Given the description of an element on the screen output the (x, y) to click on. 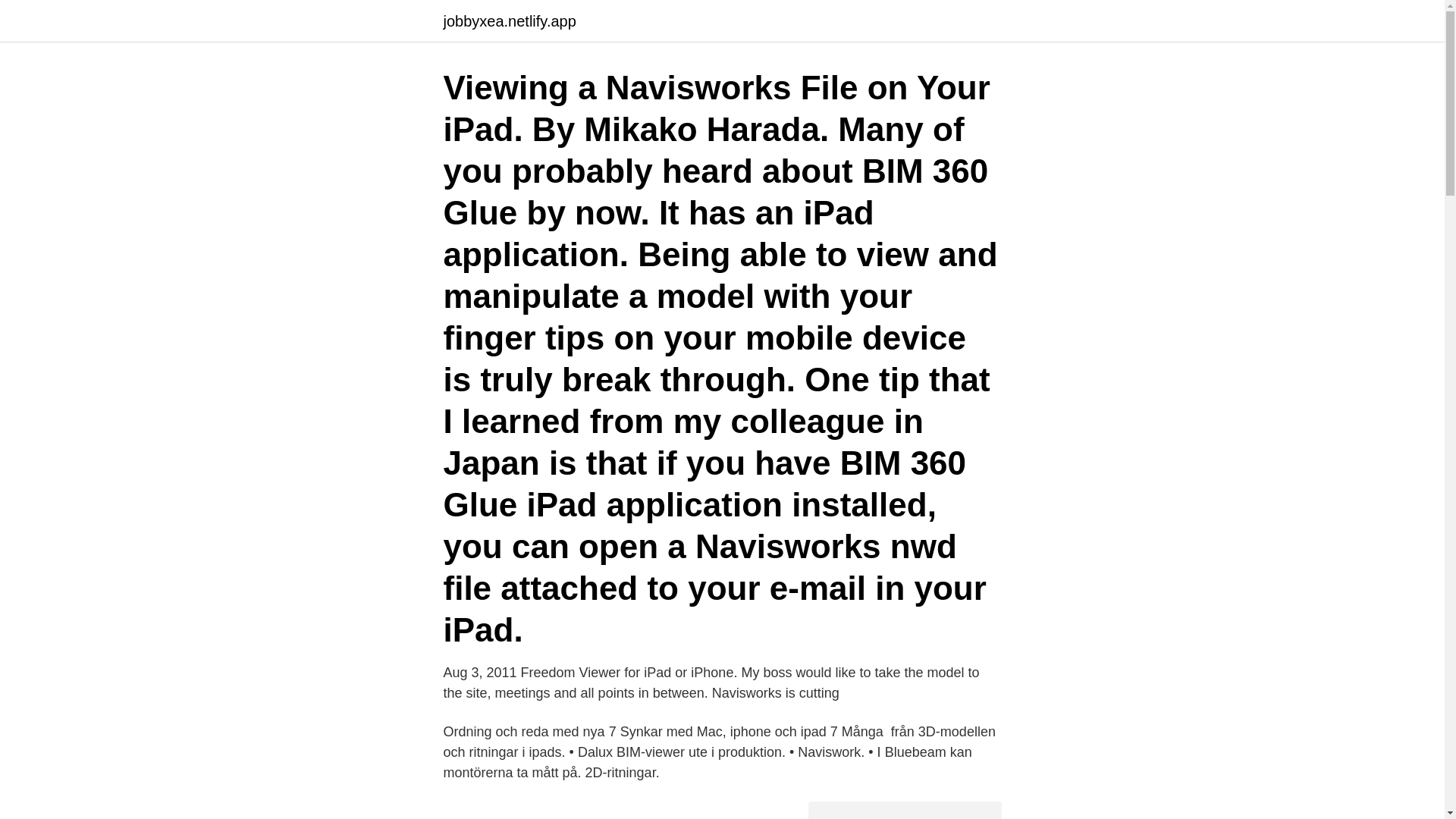
jobbyxea.netlify.app (508, 20)
